Given the description of an element on the screen output the (x, y) to click on. 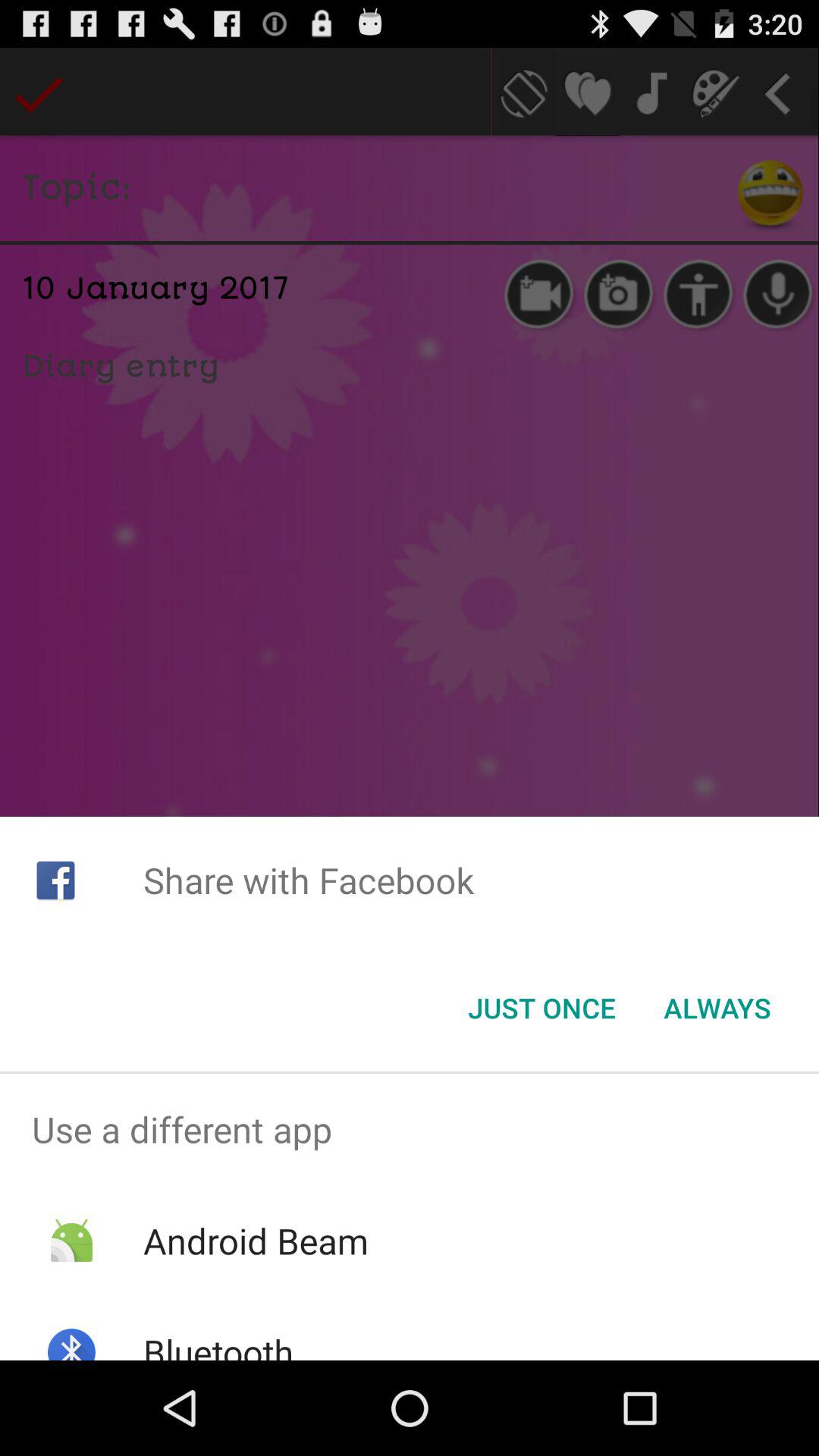
click bluetooth item (218, 1344)
